Given the description of an element on the screen output the (x, y) to click on. 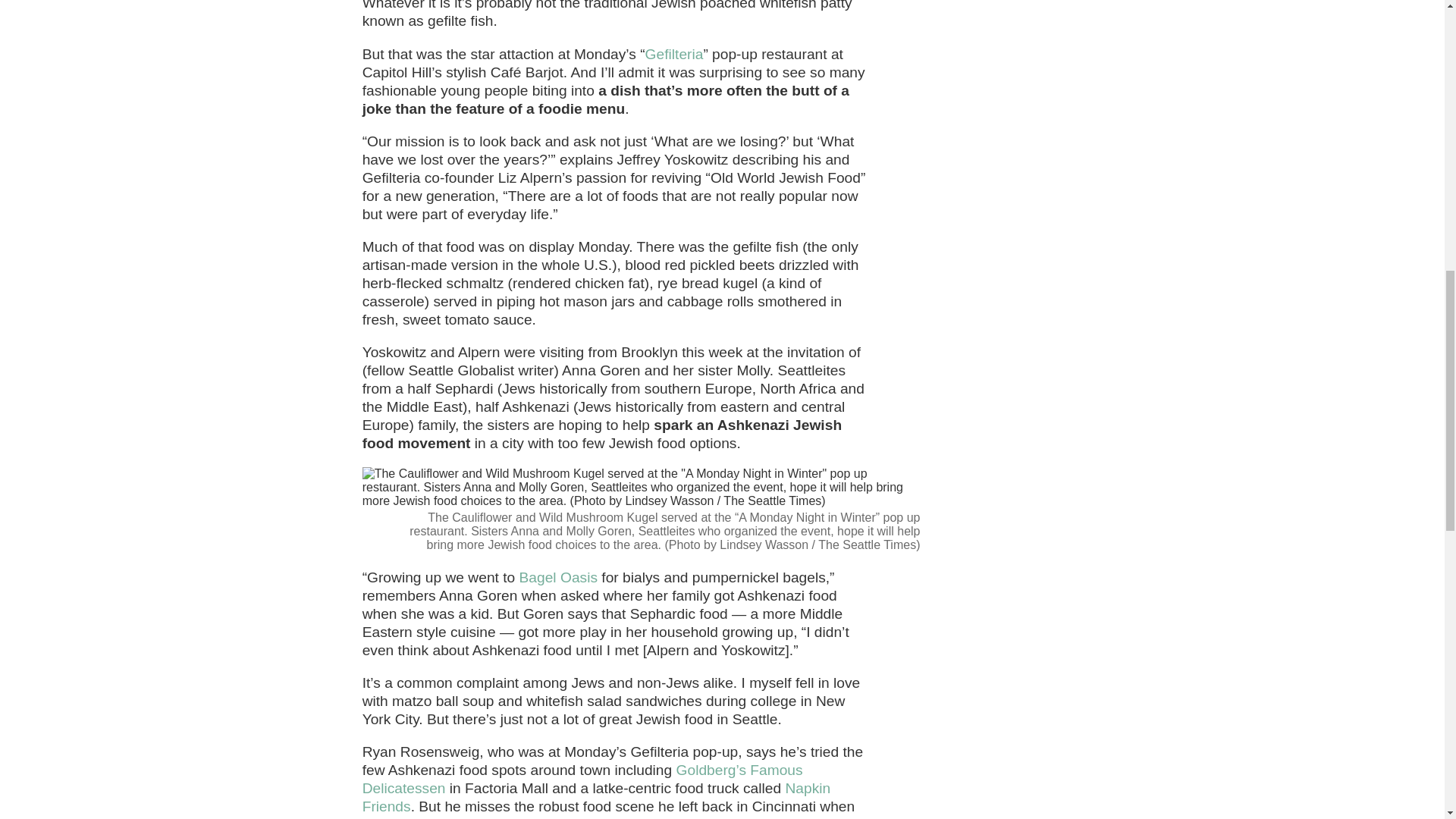
Bagel Oasis (557, 577)
Gefilteria (674, 53)
Napkin Friends (596, 797)
